Given the description of an element on the screen output the (x, y) to click on. 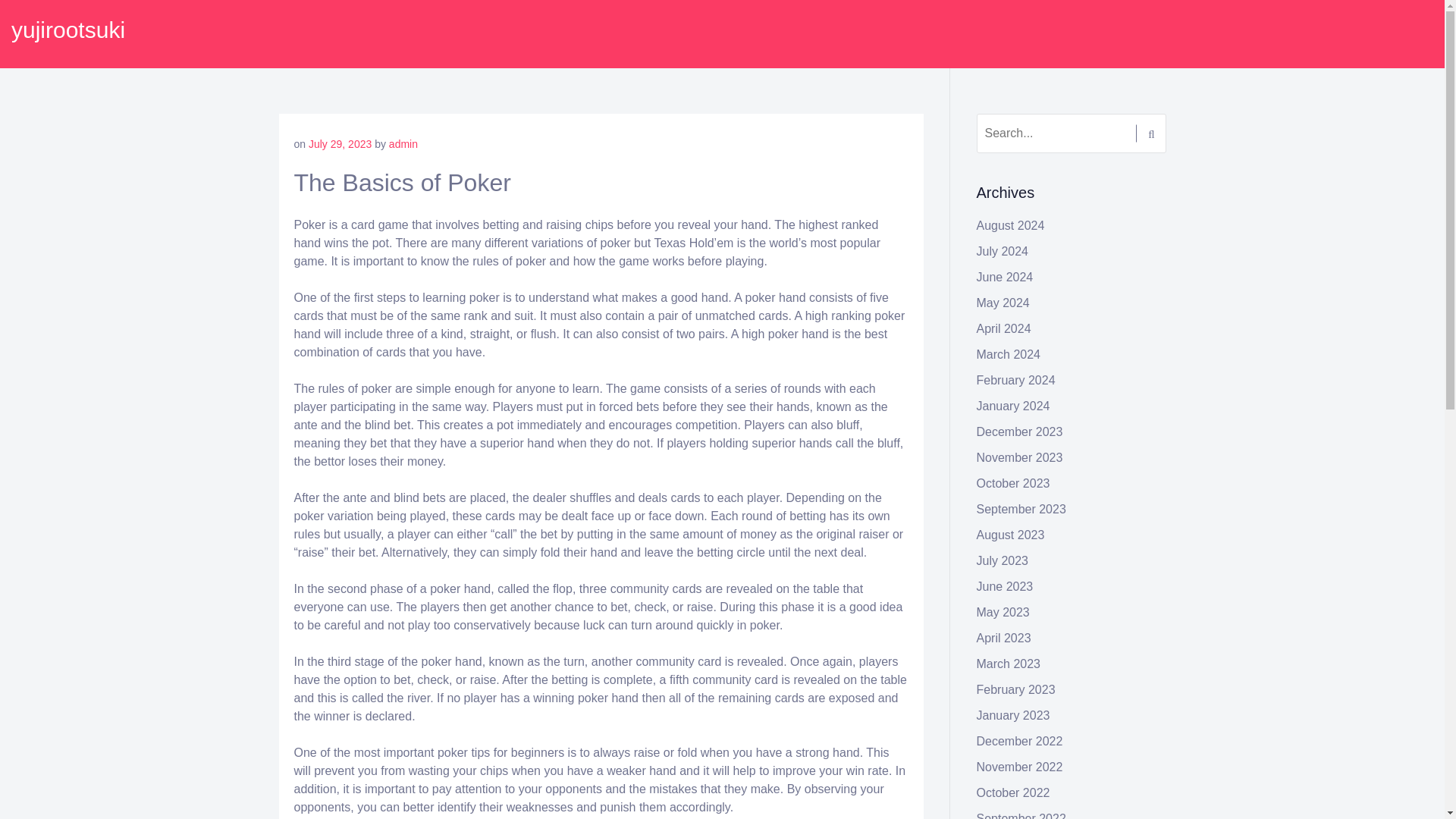
March 2023 (1008, 663)
July 29, 2023 (339, 143)
February 2023 (1015, 689)
December 2023 (1019, 431)
August 2024 (1010, 225)
July 2024 (1002, 250)
March 2024 (1008, 354)
admin (402, 143)
September 2022 (1020, 815)
June 2024 (1004, 277)
